Given the description of an element on the screen output the (x, y) to click on. 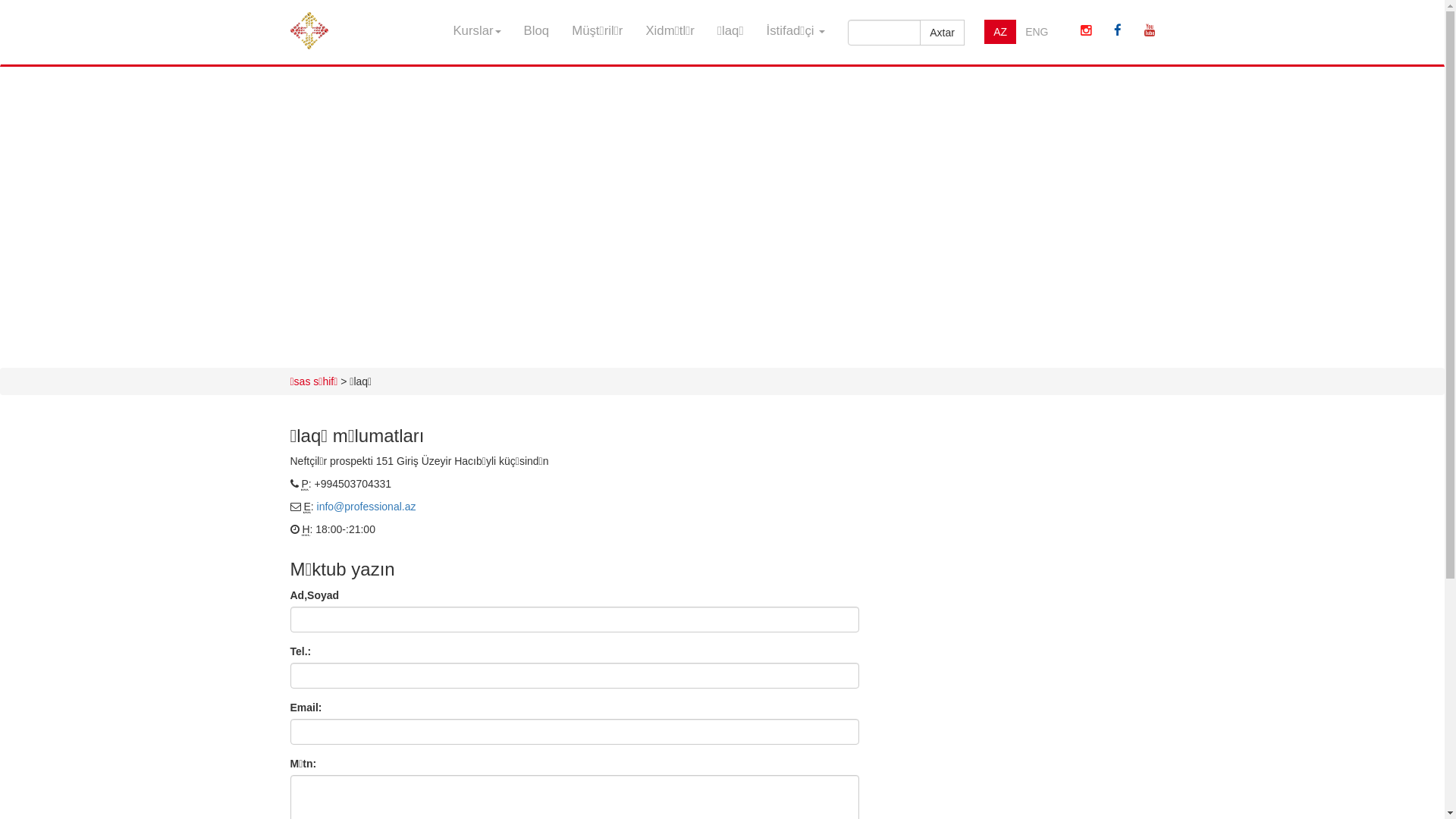
youtube Element type: hover (1149, 31)
facebook Element type: hover (1117, 31)
AZ Element type: text (1000, 31)
 Axtar  Element type: text (941, 32)
Kurslar Element type: text (476, 31)
Bloq Element type: text (536, 31)
ENG Element type: text (1036, 31)
info@professional.az Element type: text (366, 506)
Professional IT Element type: hover (308, 19)
instagram Element type: hover (1085, 31)
